Given the description of an element on the screen output the (x, y) to click on. 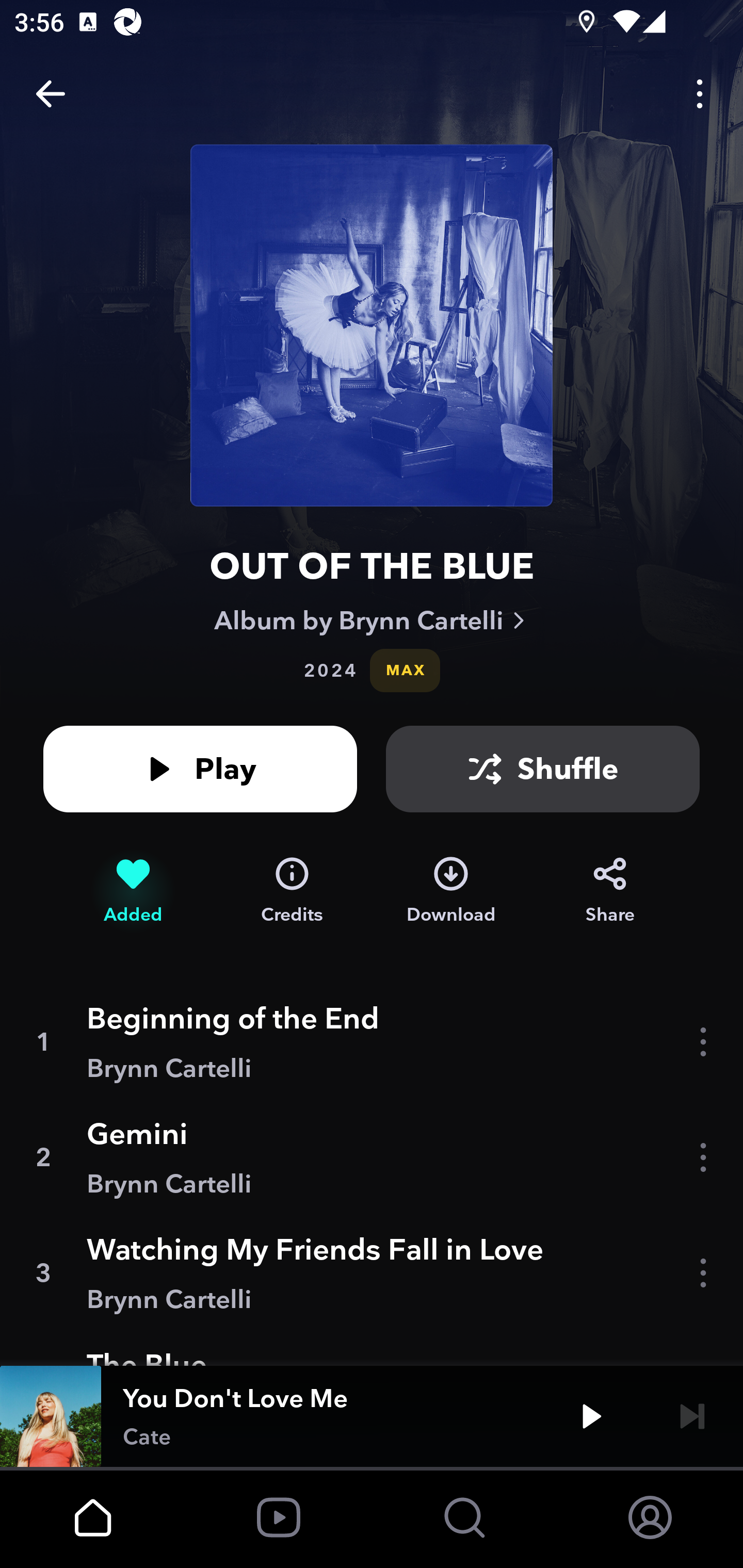
Options (699, 93)
OUT OF THE BLUE (371, 565)
Album by Brynn Cartelli (371, 619)
Play (200, 768)
Shuffle (542, 768)
Remove from My Collection Added (132, 890)
Credits (291, 890)
Download (450, 890)
Share (609, 890)
1 Beginning of the End Brynn Cartelli (371, 1041)
2 Gemini Brynn Cartelli (371, 1157)
3 Watching My Friends Fall in Love Brynn Cartelli (371, 1273)
You Don't Love Me Cate Play (371, 1416)
Play (590, 1416)
